Given the description of an element on the screen output the (x, y) to click on. 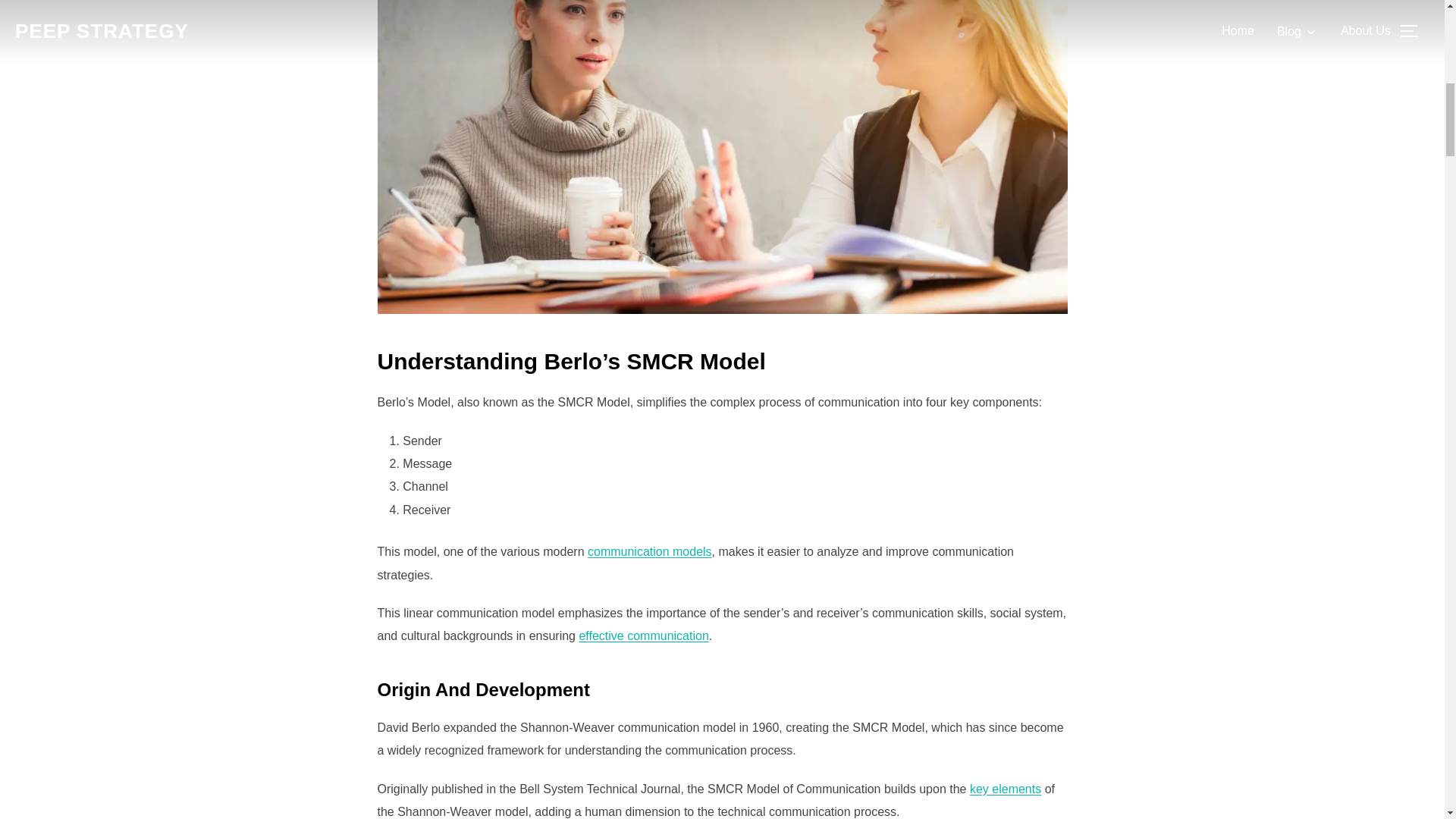
effective communication (642, 635)
communication models (649, 551)
key elements (1005, 788)
